Given the description of an element on the screen output the (x, y) to click on. 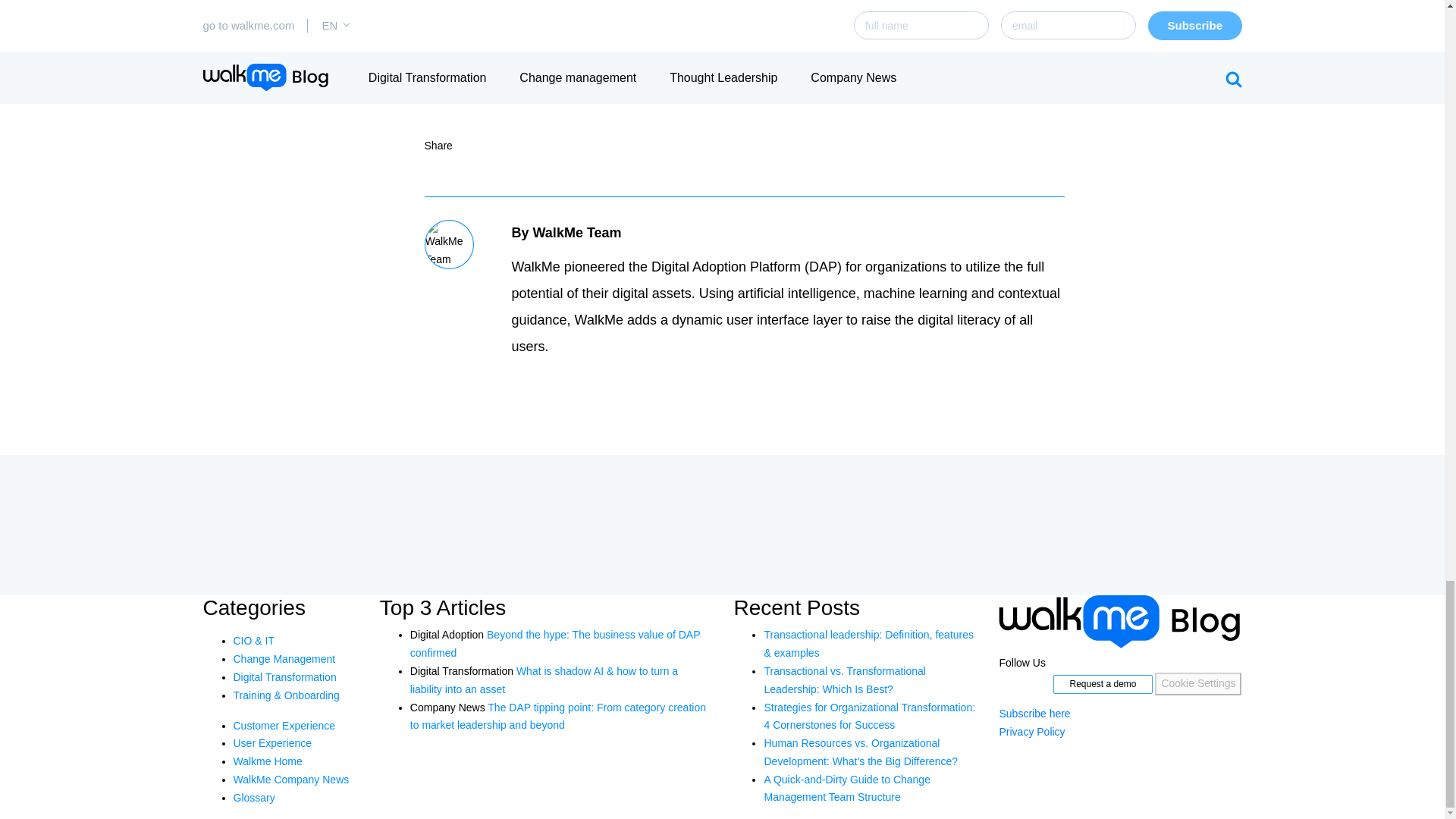
Twitter (471, 144)
Change Management (284, 658)
Customer Experience (284, 725)
Facebook (529, 144)
Digital Transformation (284, 676)
Glossary (253, 797)
Walkme Home (267, 761)
WalkMe Company News (290, 779)
Linked In (500, 144)
User Experience (272, 743)
